Given the description of an element on the screen output the (x, y) to click on. 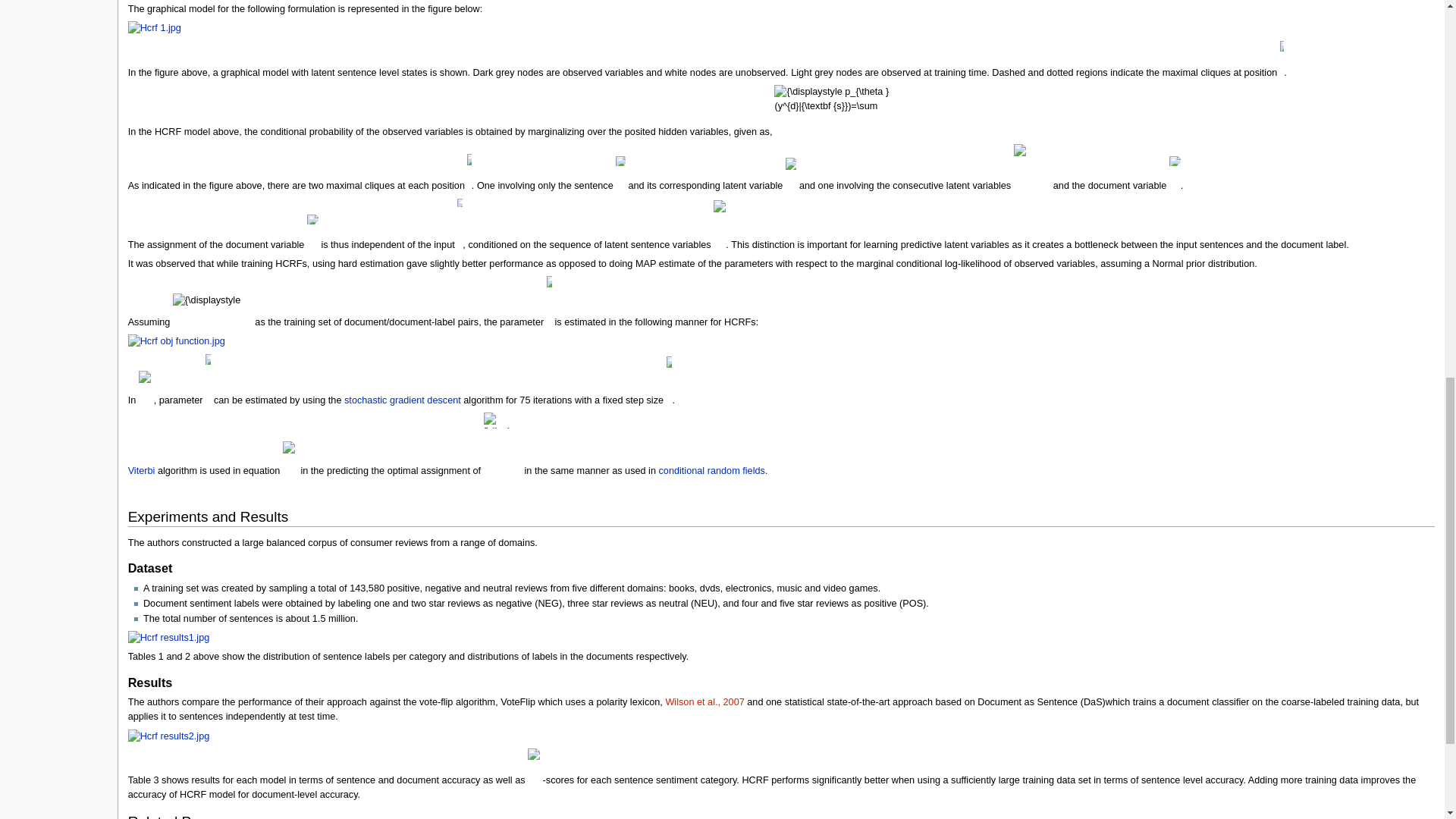
Stochastic Gradient Descent (402, 399)
Conditional random fields (712, 470)
conditional random fields (712, 470)
Viterbi (141, 470)
stochastic gradient descent (402, 399)
Wilson et al., 2007 (704, 701)
Viterbi (141, 470)
